Given the description of an element on the screen output the (x, y) to click on. 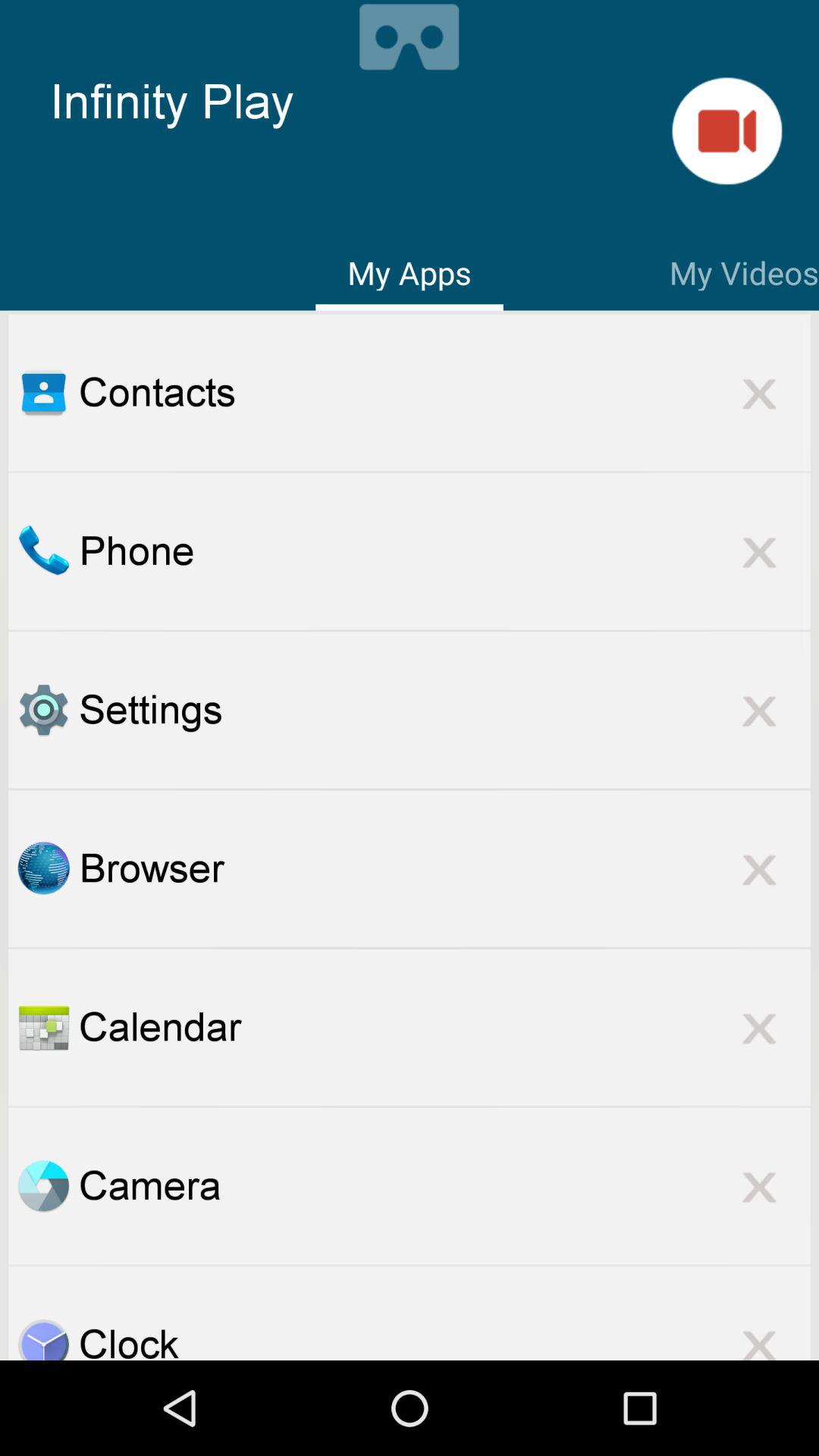
jump to the calendar (444, 1026)
